Given the description of an element on the screen output the (x, y) to click on. 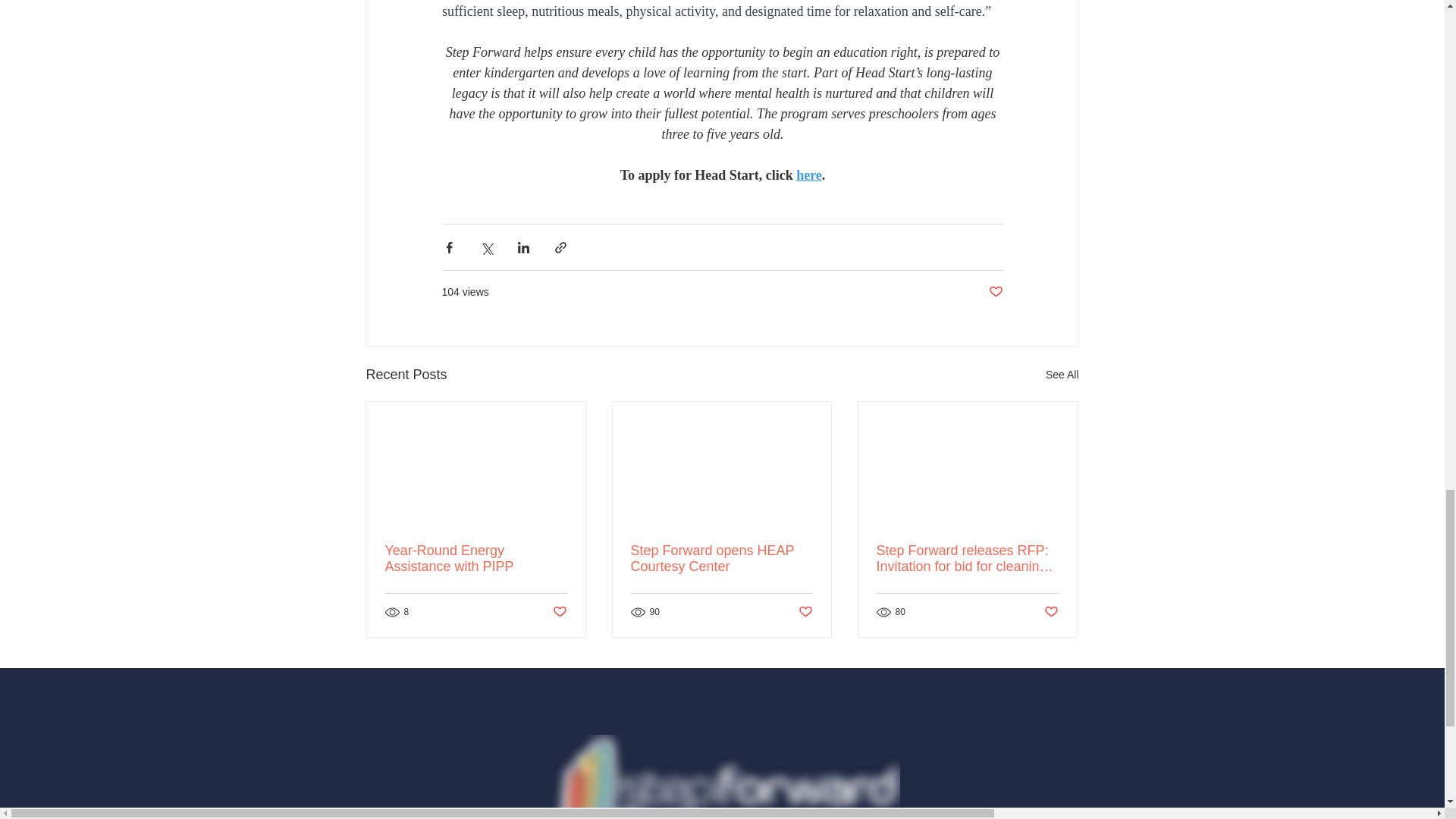
Step Forward Logo (721, 776)
here (809, 174)
